Given the description of an element on the screen output the (x, y) to click on. 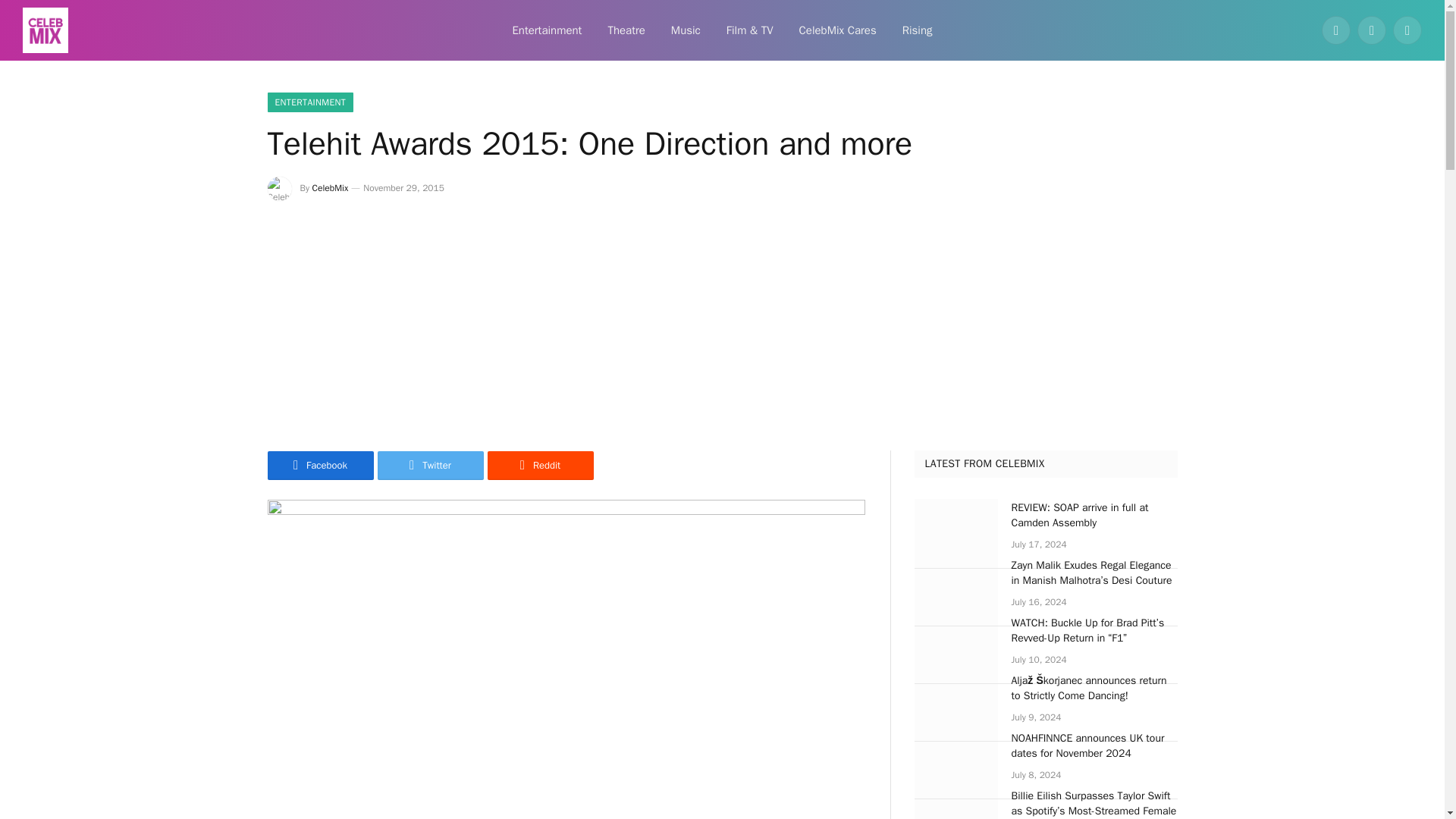
Instagram (1407, 30)
Share on Reddit (539, 465)
Music (685, 30)
CelebMix (331, 187)
Reddit (539, 465)
Share on Facebook (319, 465)
CelebMix Cares (837, 30)
ENTERTAINMENT (309, 102)
Posts by CelebMix (331, 187)
Entertainment (546, 30)
Twitter (430, 465)
Facebook (319, 465)
Theatre (626, 30)
Rising (916, 30)
